Given the description of an element on the screen output the (x, y) to click on. 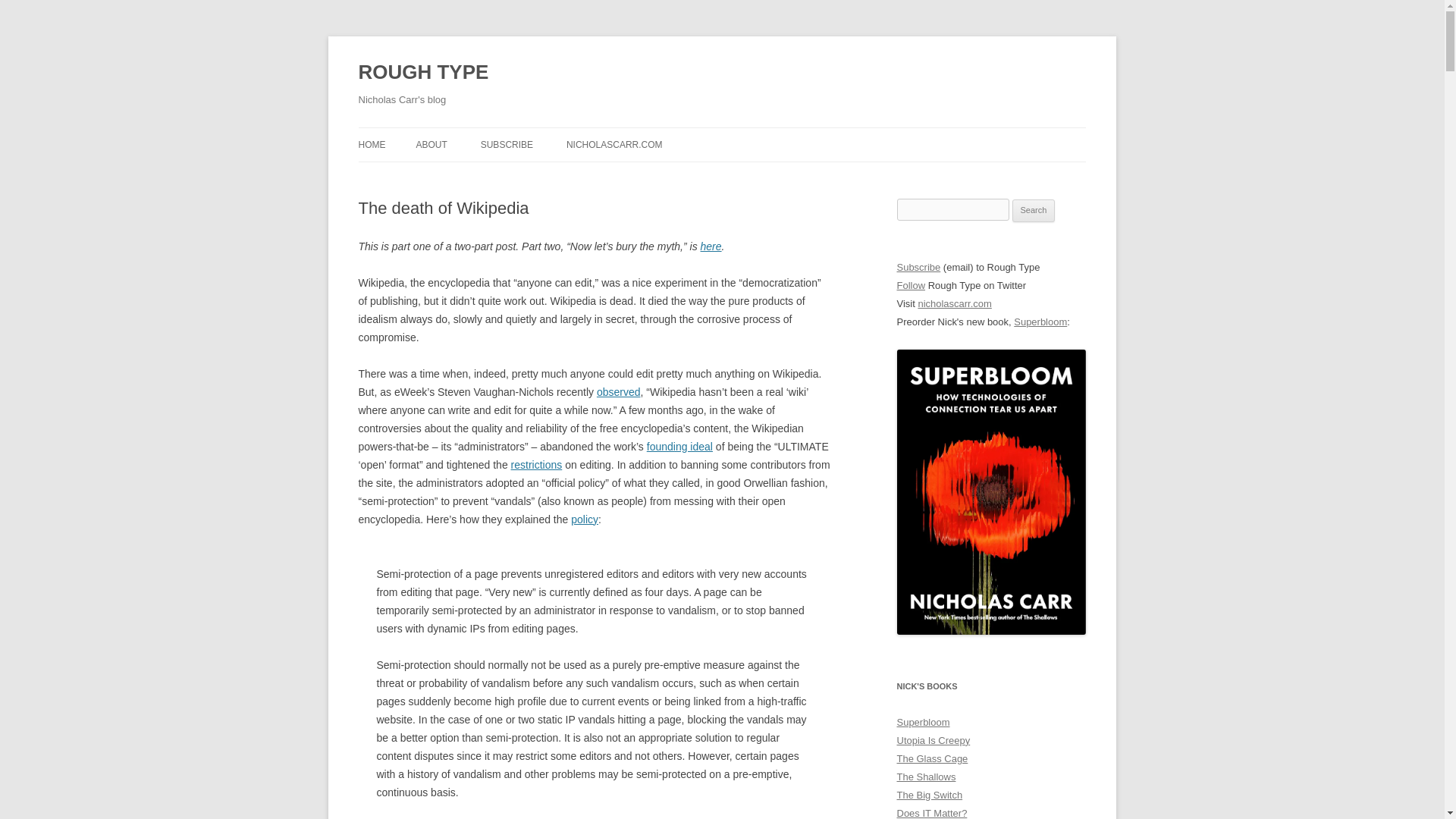
observed (618, 391)
ROUGH TYPE (422, 72)
ABOUT (430, 144)
NICHOLASCARR.COM (614, 144)
SUBSCRIBE (506, 144)
ROUGH TYPE (422, 72)
The Big Switch book site (929, 794)
restrictions (536, 464)
policy (584, 519)
Does IT Matter? book site (931, 813)
The Shallows book site (925, 776)
Search (1033, 210)
founding ideal (679, 446)
here (711, 246)
